Given the description of an element on the screen output the (x, y) to click on. 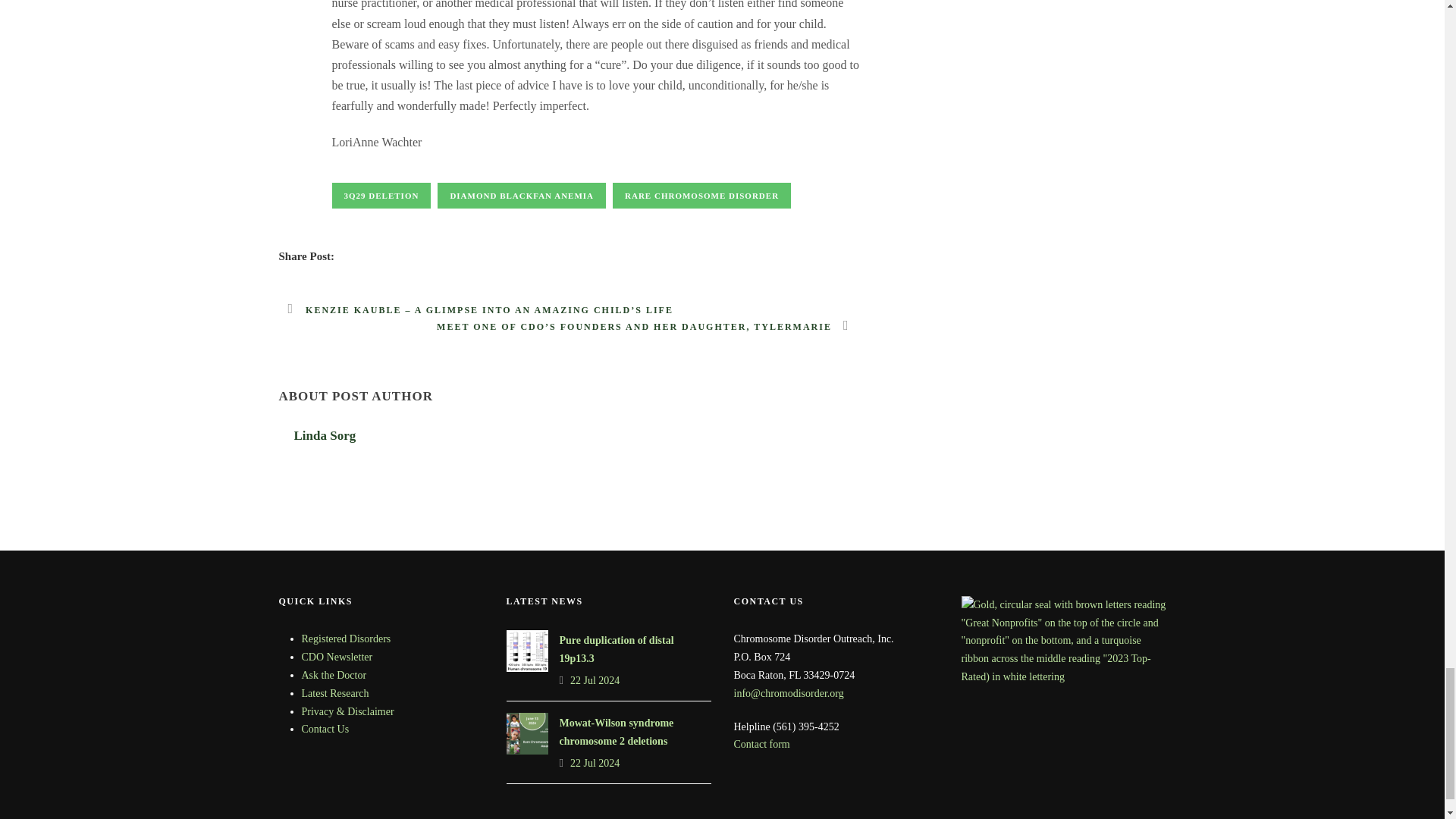
Posts by Linda Sorg (325, 435)
